Given the description of an element on the screen output the (x, y) to click on. 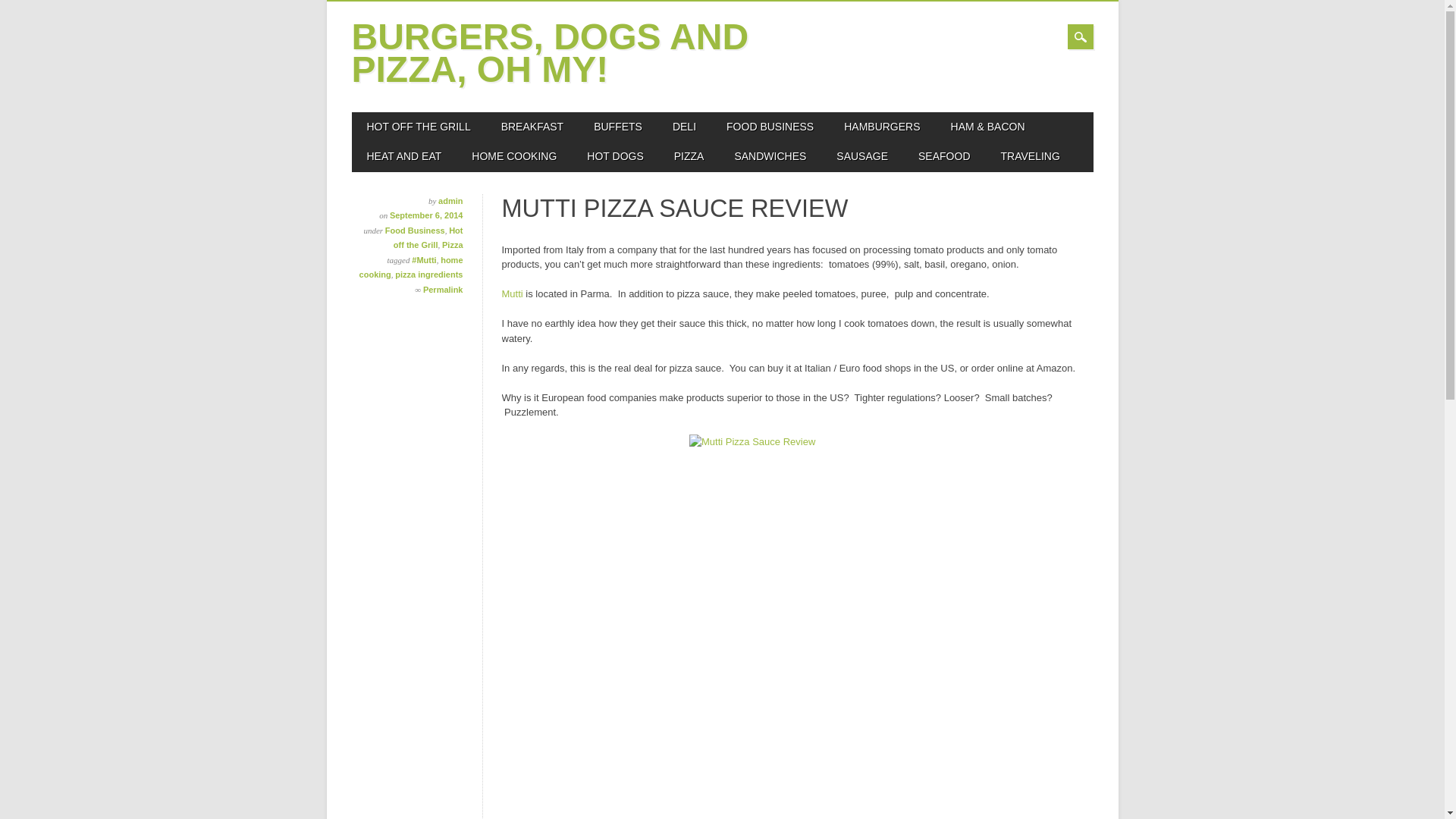
Burgers, Dogs and Pizza, Oh My! (550, 52)
BURGERS, DOGS AND PIZZA, OH MY! (550, 52)
BREAKFAST (532, 127)
Permalink to Mutti Pizza Sauce Review (443, 289)
BUFFETS (618, 127)
7:00 am (426, 215)
Pizza (452, 244)
Mutti (513, 293)
home cooking (411, 267)
pizza ingredients (428, 274)
Hot off the Grill (428, 238)
Permalink (443, 289)
SANDWICHES (770, 156)
SAUSAGE (861, 156)
HOT OFF THE GRILL (419, 127)
